Given the description of an element on the screen output the (x, y) to click on. 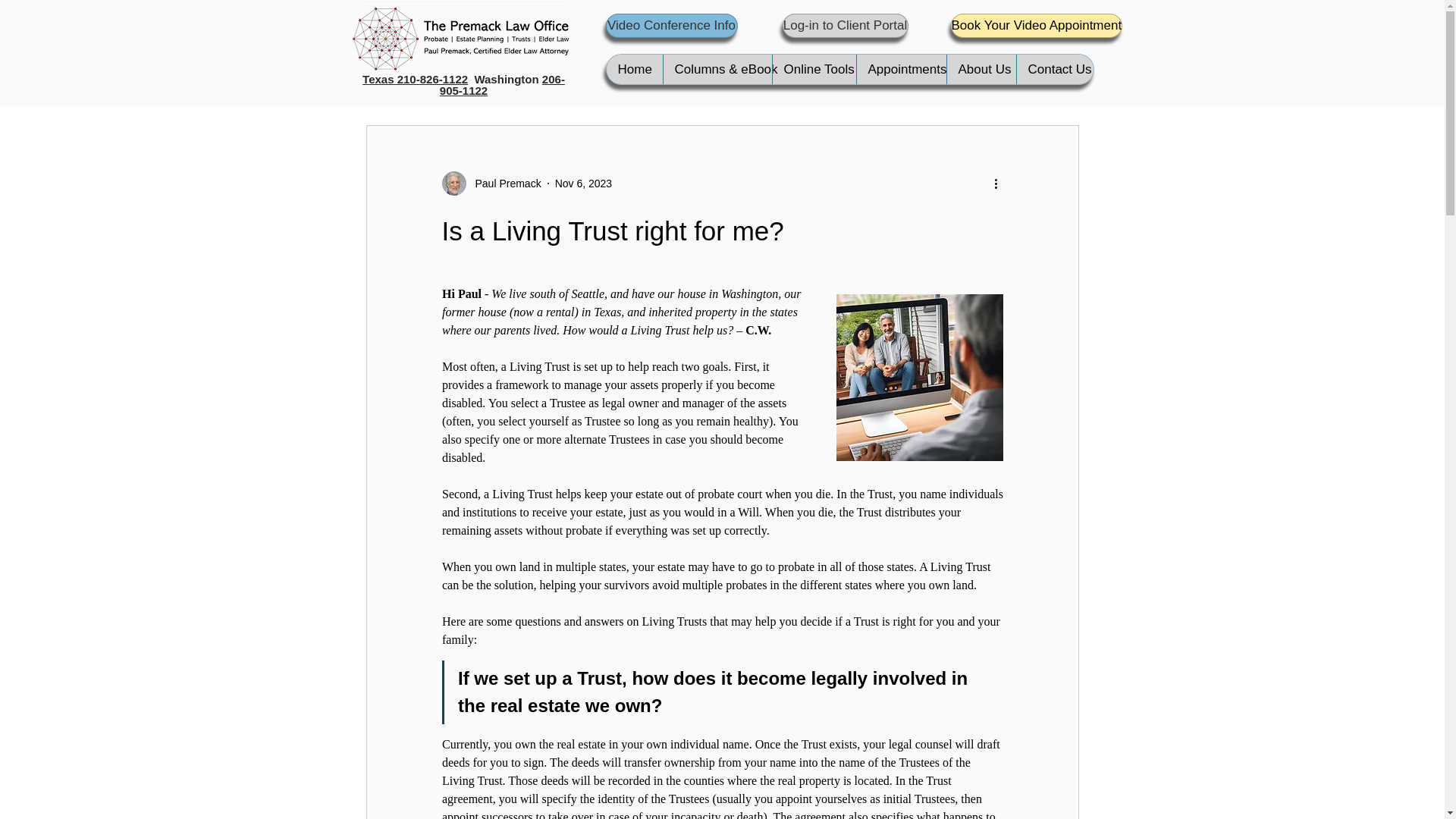
Nov 6, 2023 (583, 183)
Video Conference Info (670, 25)
Log-in to Client Portal (845, 25)
Book Your Video Appointment (1036, 25)
Home (634, 69)
Paul Premack (502, 183)
Texas 210-826-1122 (414, 78)
Paul Premack (490, 183)
206-905-1122 (501, 84)
